Given the description of an element on the screen output the (x, y) to click on. 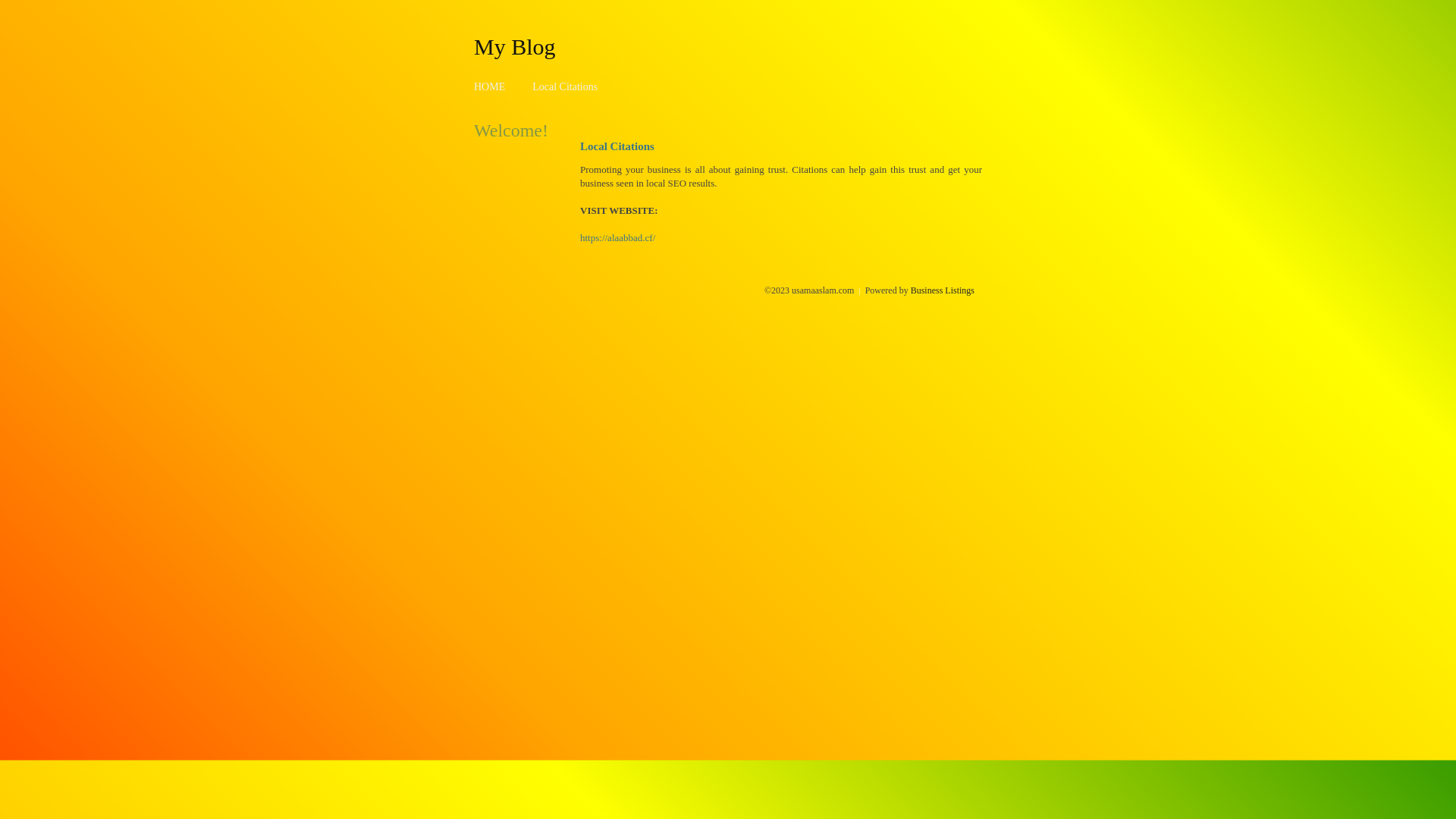
My Blog Element type: text (514, 46)
HOME Element type: text (489, 86)
https://alaabbad.cf/ Element type: text (617, 237)
Local Citations Element type: text (564, 86)
Business Listings Element type: text (942, 290)
